Given the description of an element on the screen output the (x, y) to click on. 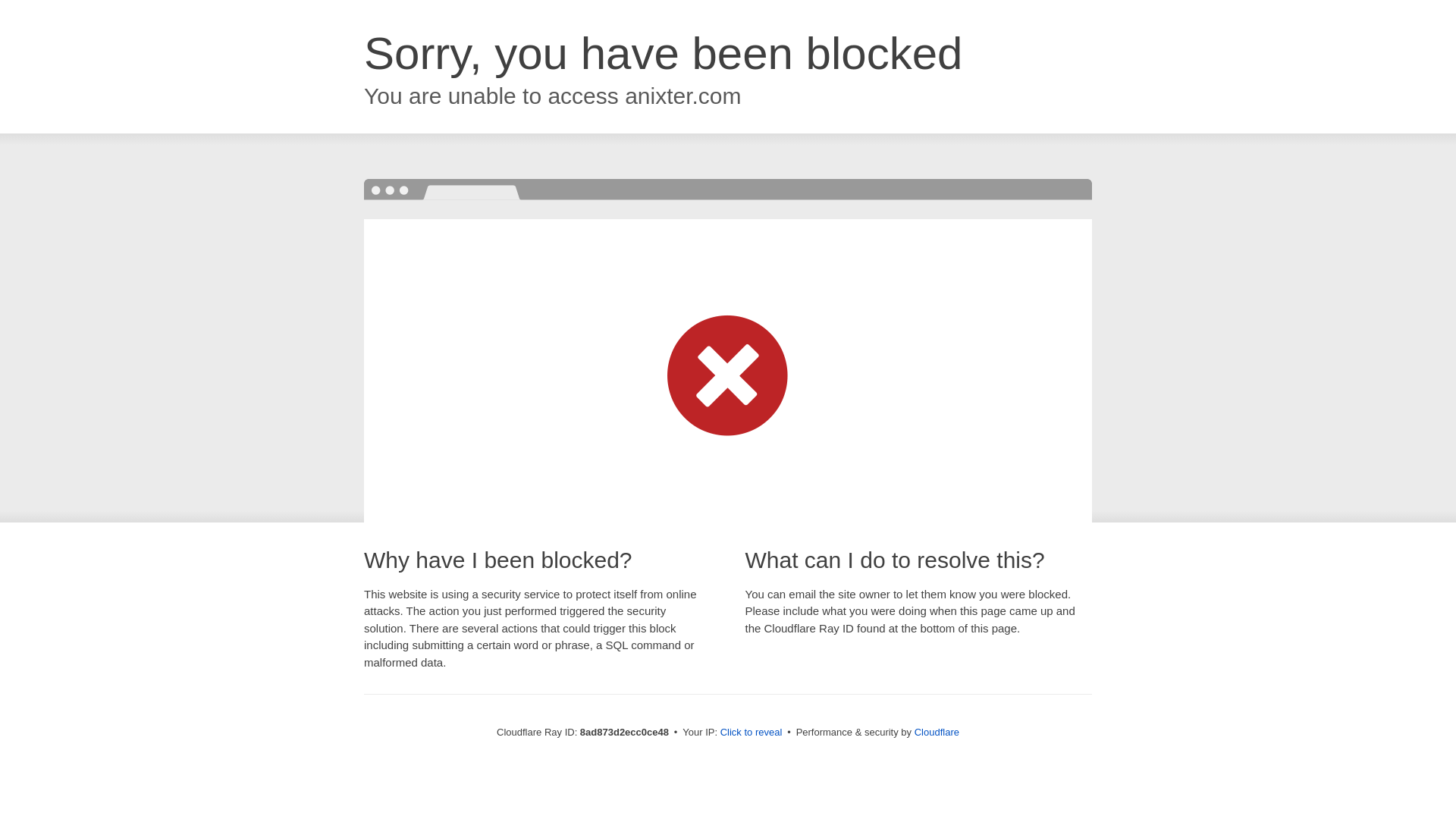
Click to reveal (751, 732)
Cloudflare (936, 731)
